Given the description of an element on the screen output the (x, y) to click on. 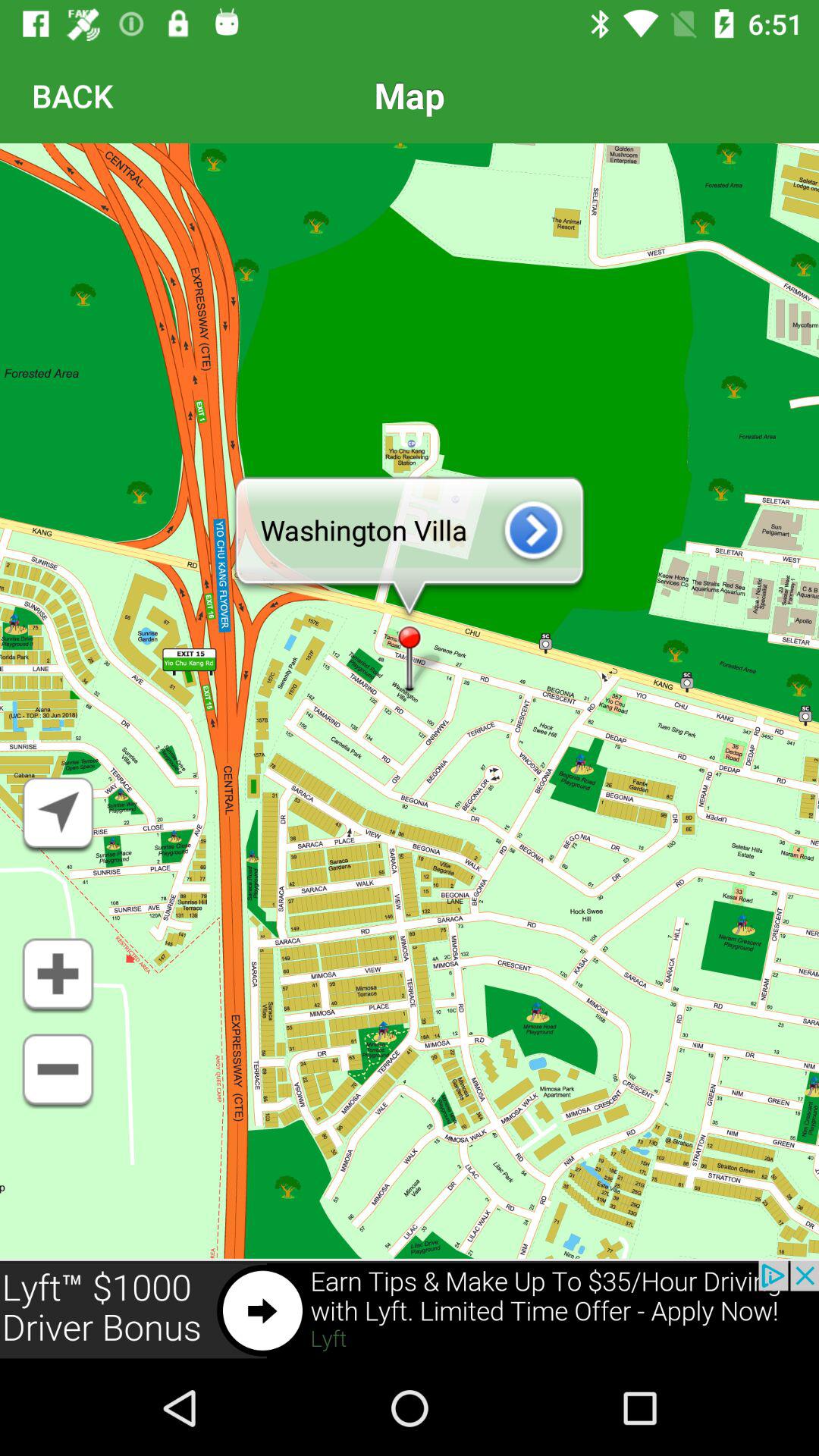
select advertisement (409, 1310)
